Given the description of an element on the screen output the (x, y) to click on. 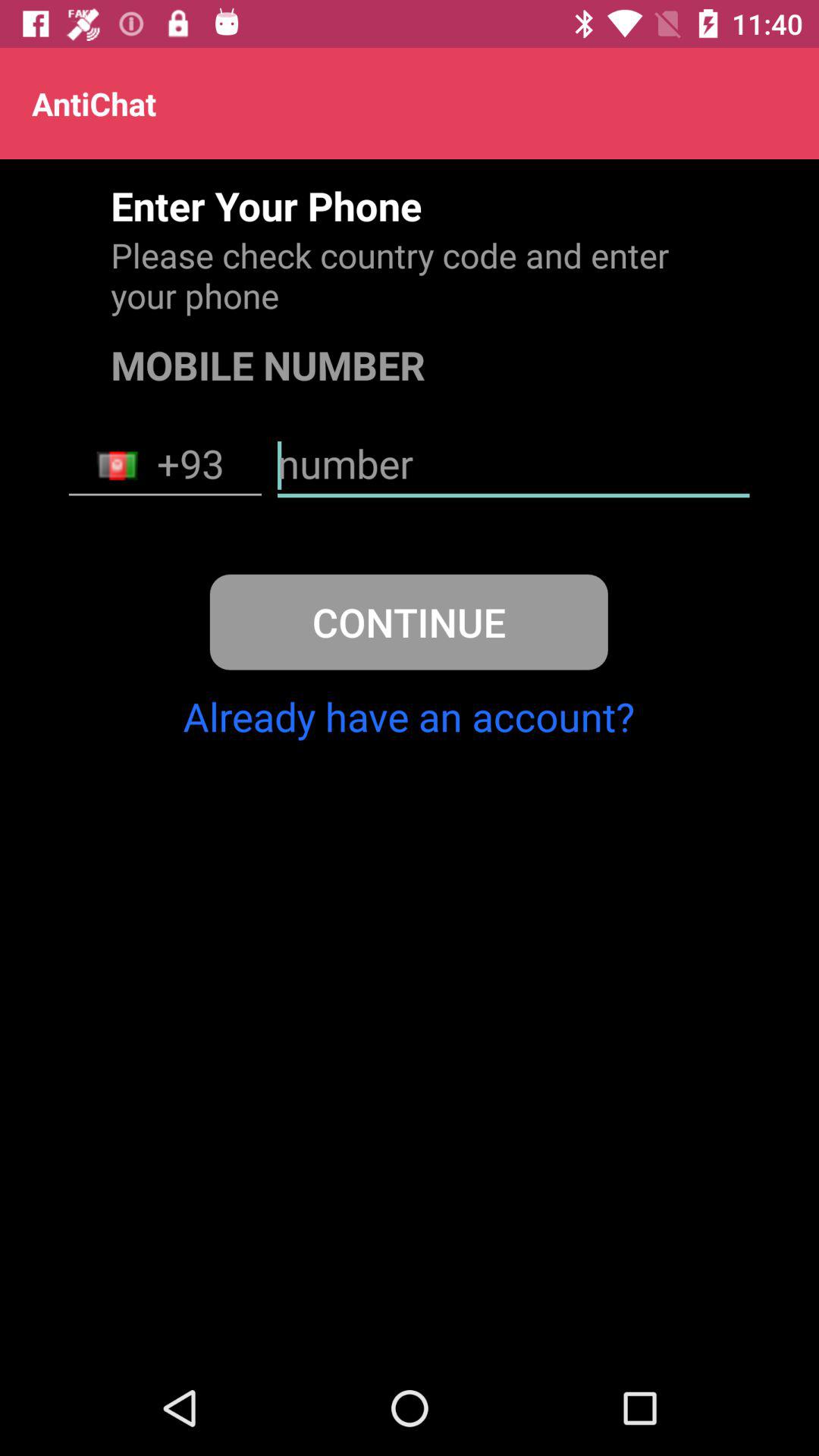
tap item below the continue (408, 715)
